Given the description of an element on the screen output the (x, y) to click on. 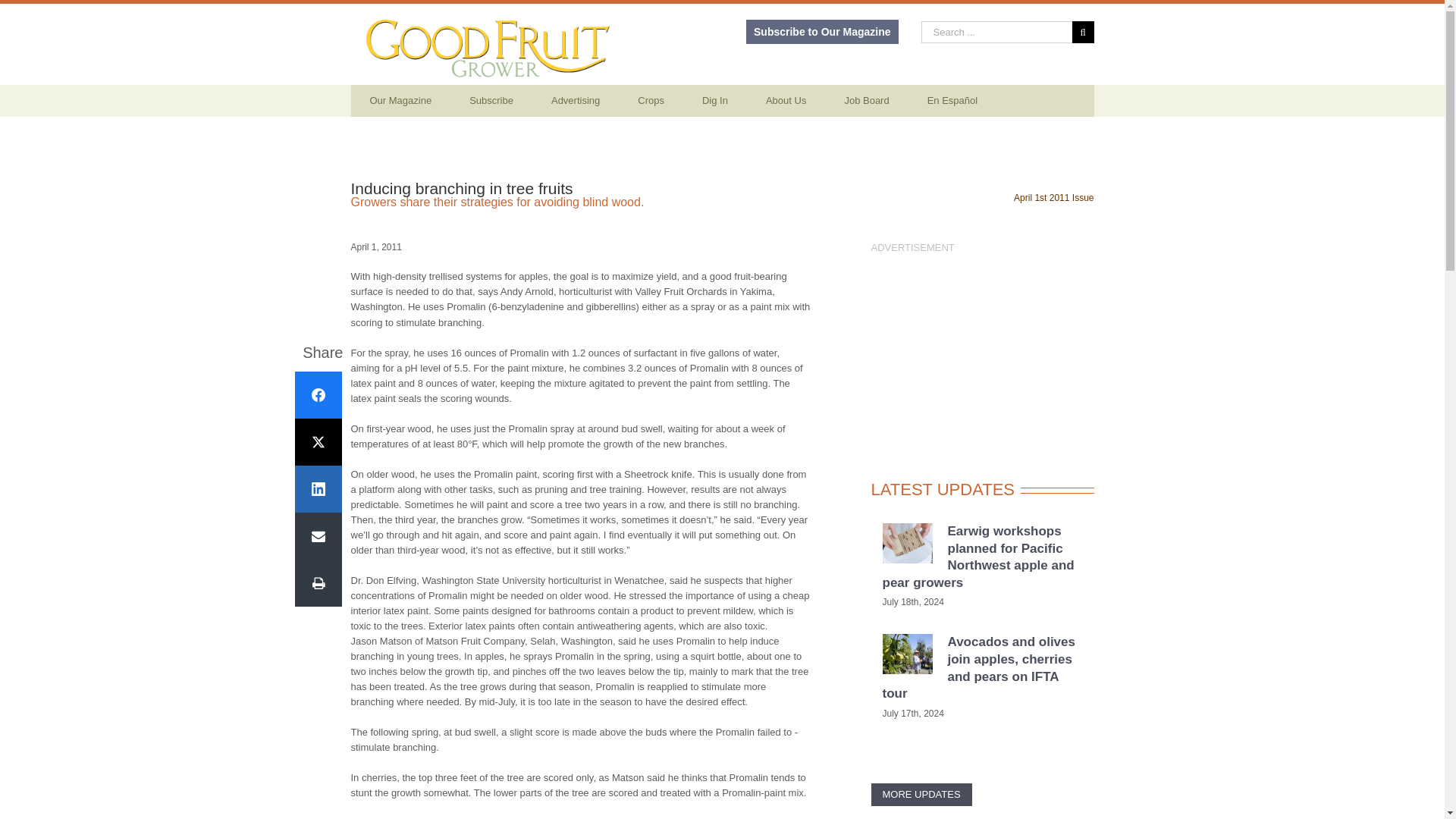
3rd party ad content (981, 350)
Advertising (575, 101)
Subscribe to Our Magazine (821, 31)
About Us (785, 101)
Subscribe (490, 101)
Our Magazine (400, 101)
